Given the description of an element on the screen output the (x, y) to click on. 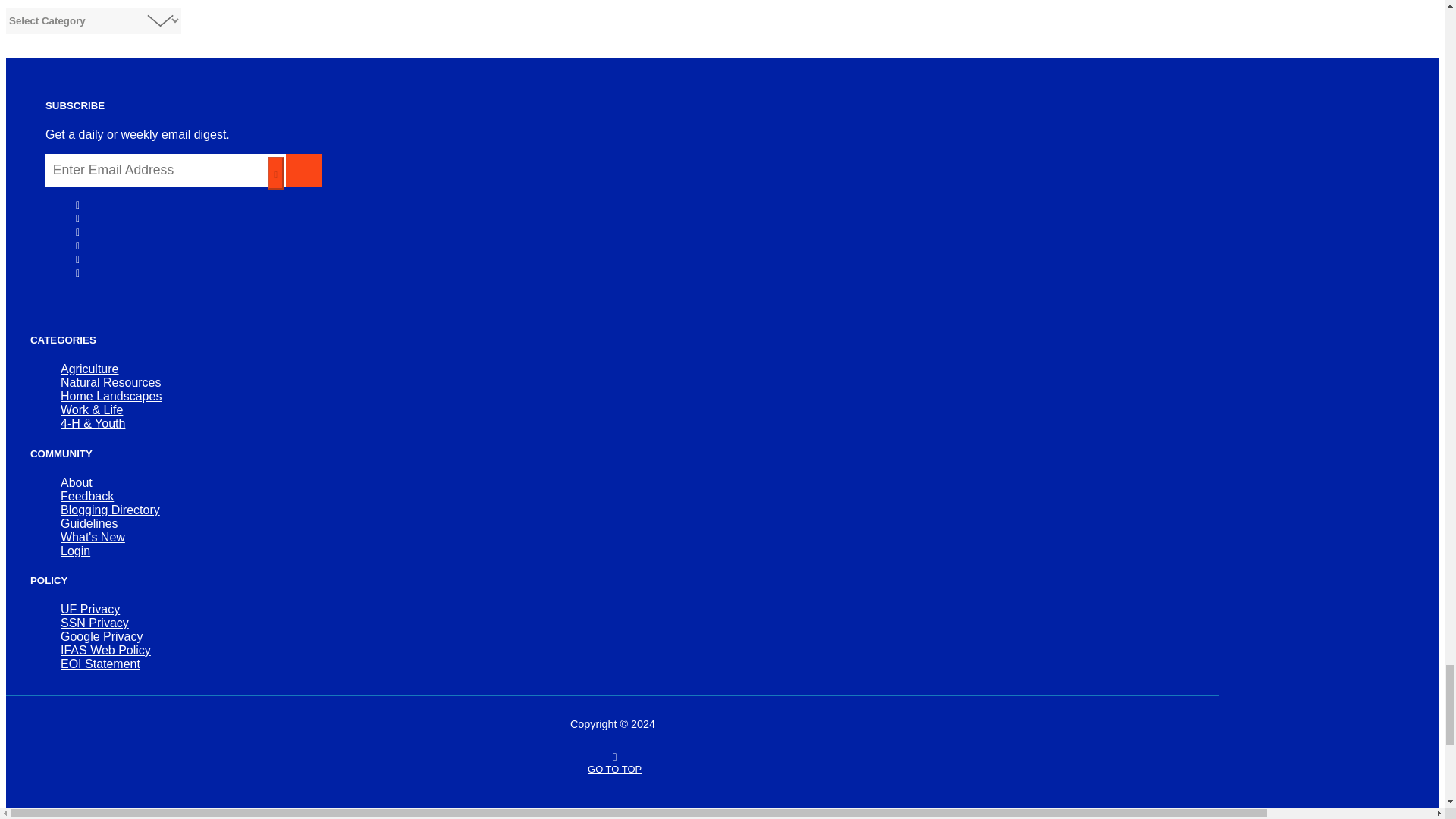
Enter Email Address (165, 169)
